Given the description of an element on the screen output the (x, y) to click on. 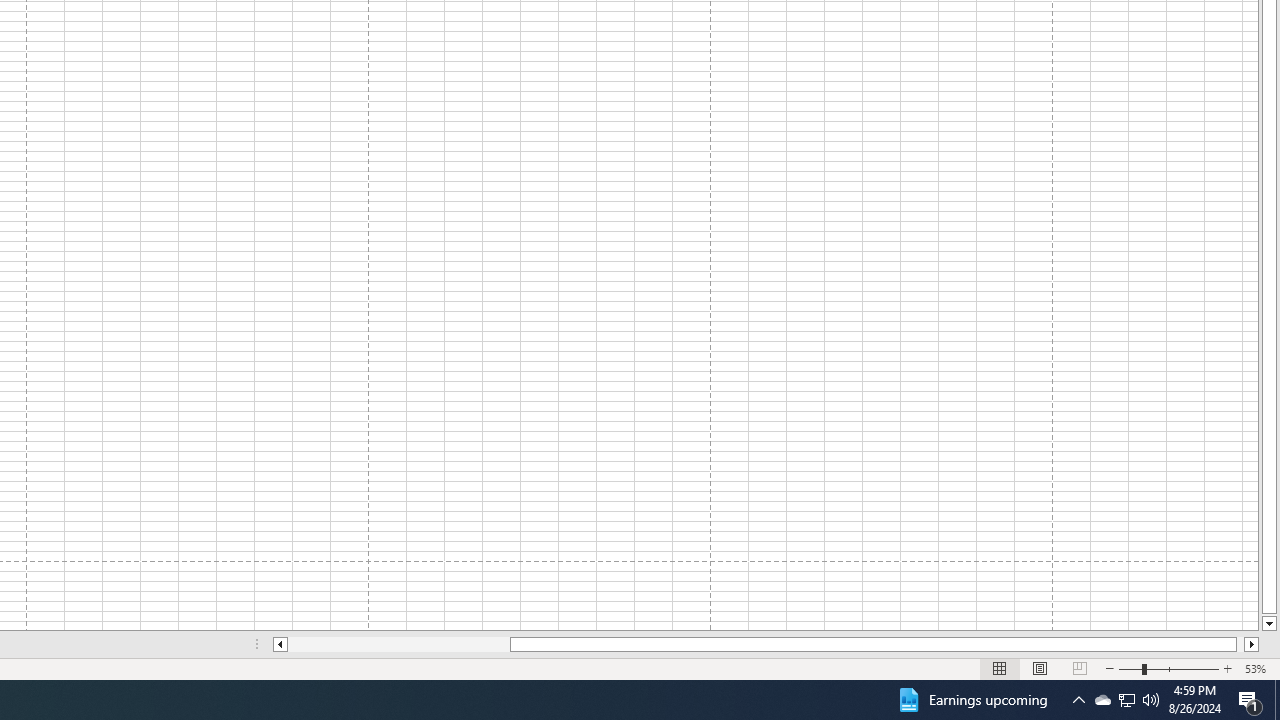
Page right (1240, 644)
Page left (398, 644)
